Given the description of an element on the screen output the (x, y) to click on. 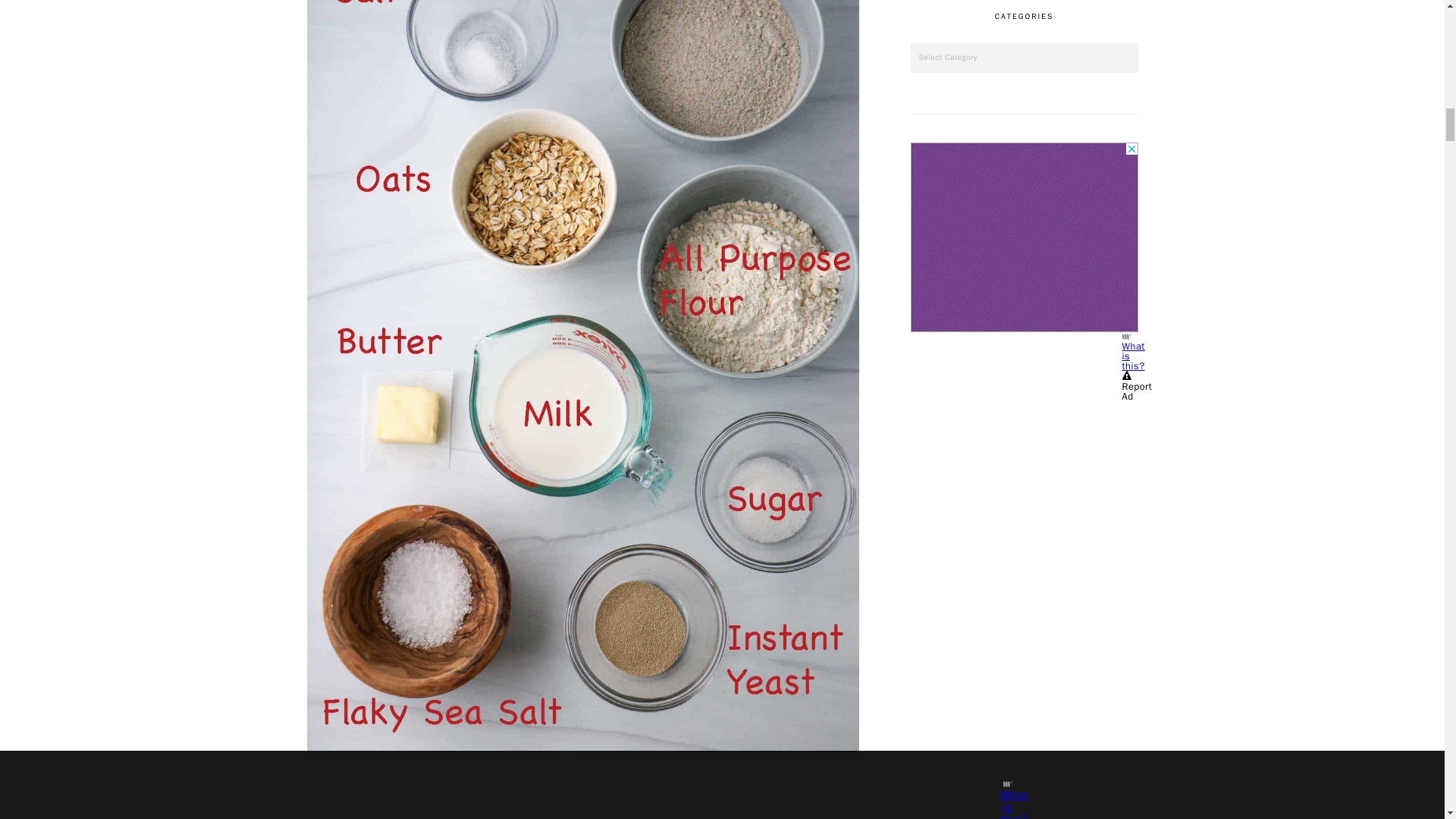
3rd party ad content (581, 793)
